Given the description of an element on the screen output the (x, y) to click on. 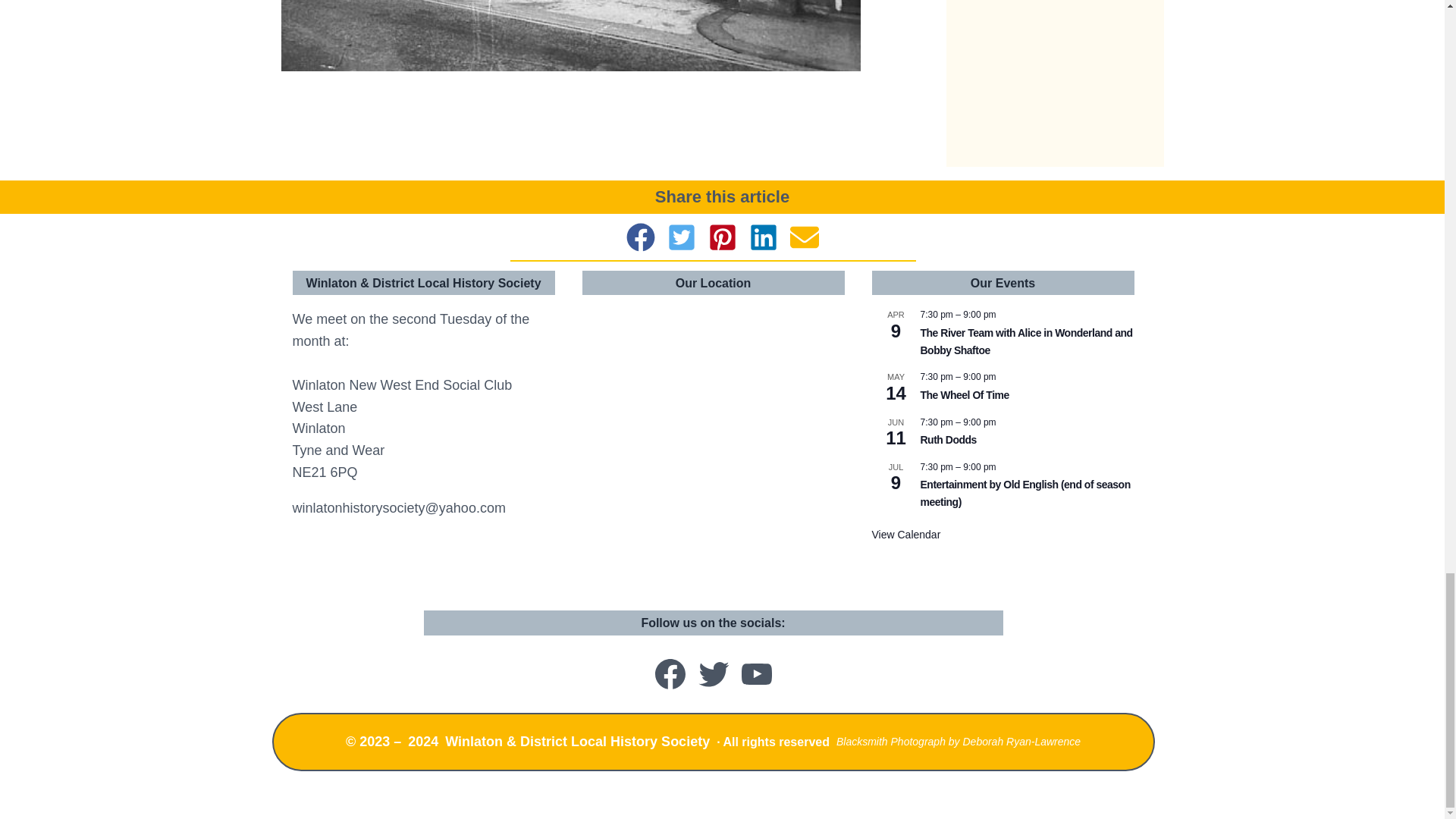
Google Map for  (713, 445)
View more events. (906, 534)
The River Team with Alice in Wonderland and Bobby Shaftoe (1026, 341)
The Wheel Of Time (964, 395)
Ruth Dodds (948, 440)
